Given the description of an element on the screen output the (x, y) to click on. 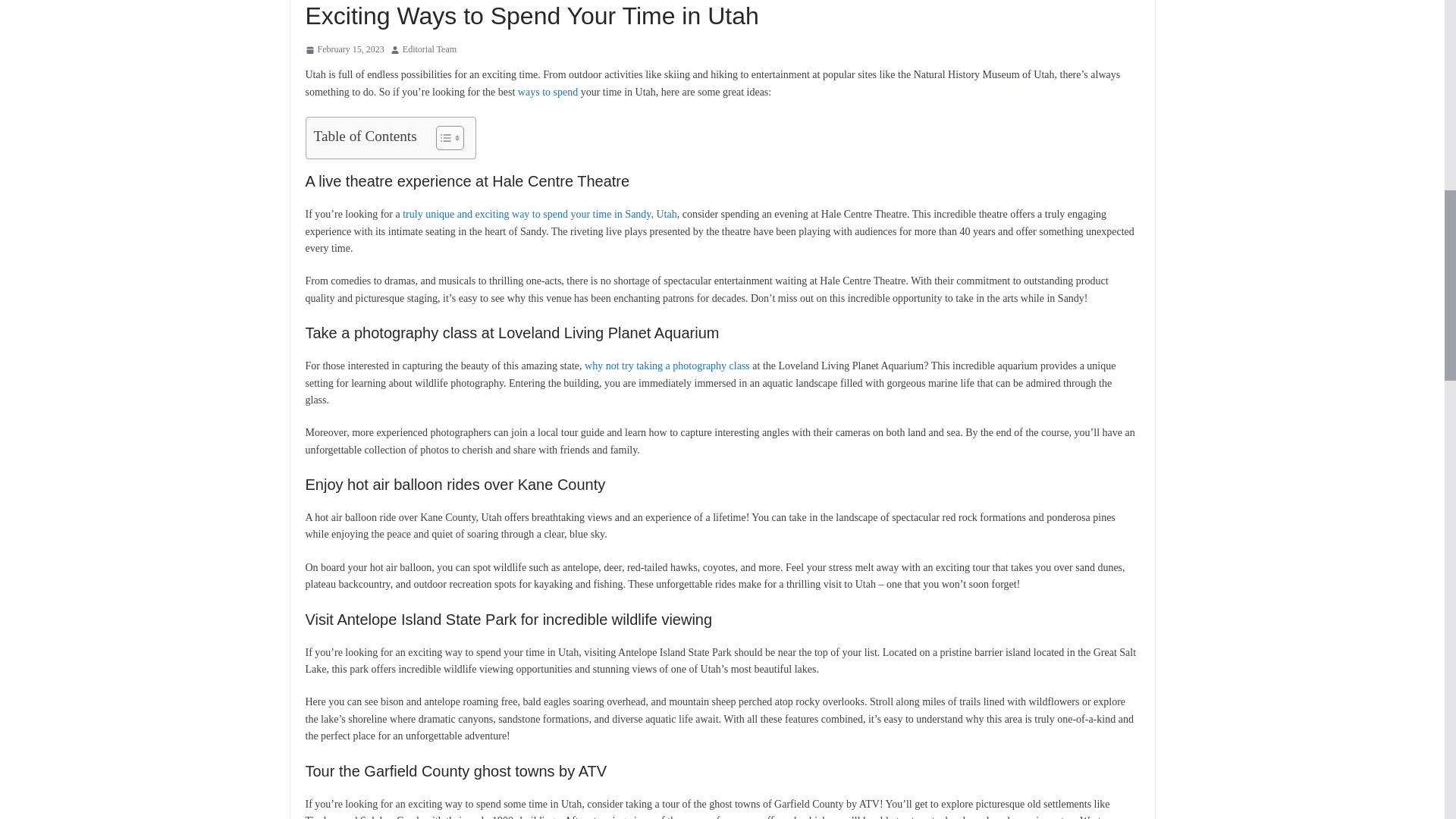
12:53 am (344, 49)
Editorial Team (430, 49)
Editorial Team (430, 49)
February 15, 2023 (344, 49)
ways to spend (548, 91)
